Given the description of an element on the screen output the (x, y) to click on. 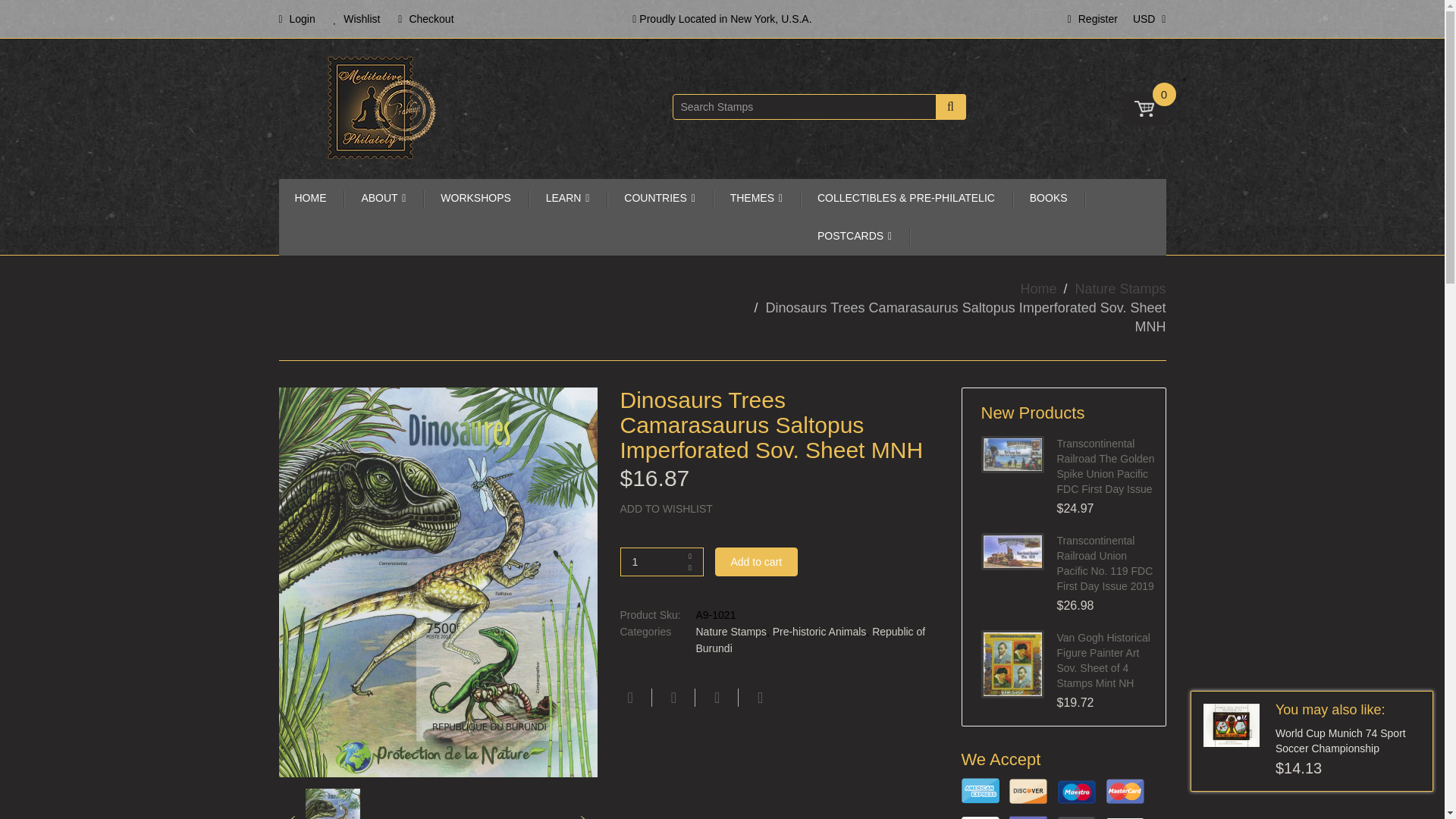
Decrease (689, 567)
Add to wishlist (779, 509)
Facebook (628, 697)
Meditative Philately (381, 107)
Wishlist (356, 18)
cart (1144, 108)
Share an image of this article on Pinterest (714, 697)
Google (758, 697)
Register (1092, 18)
Login (297, 18)
Increase (689, 555)
1 (661, 561)
Twitter (671, 697)
